Given the description of an element on the screen output the (x, y) to click on. 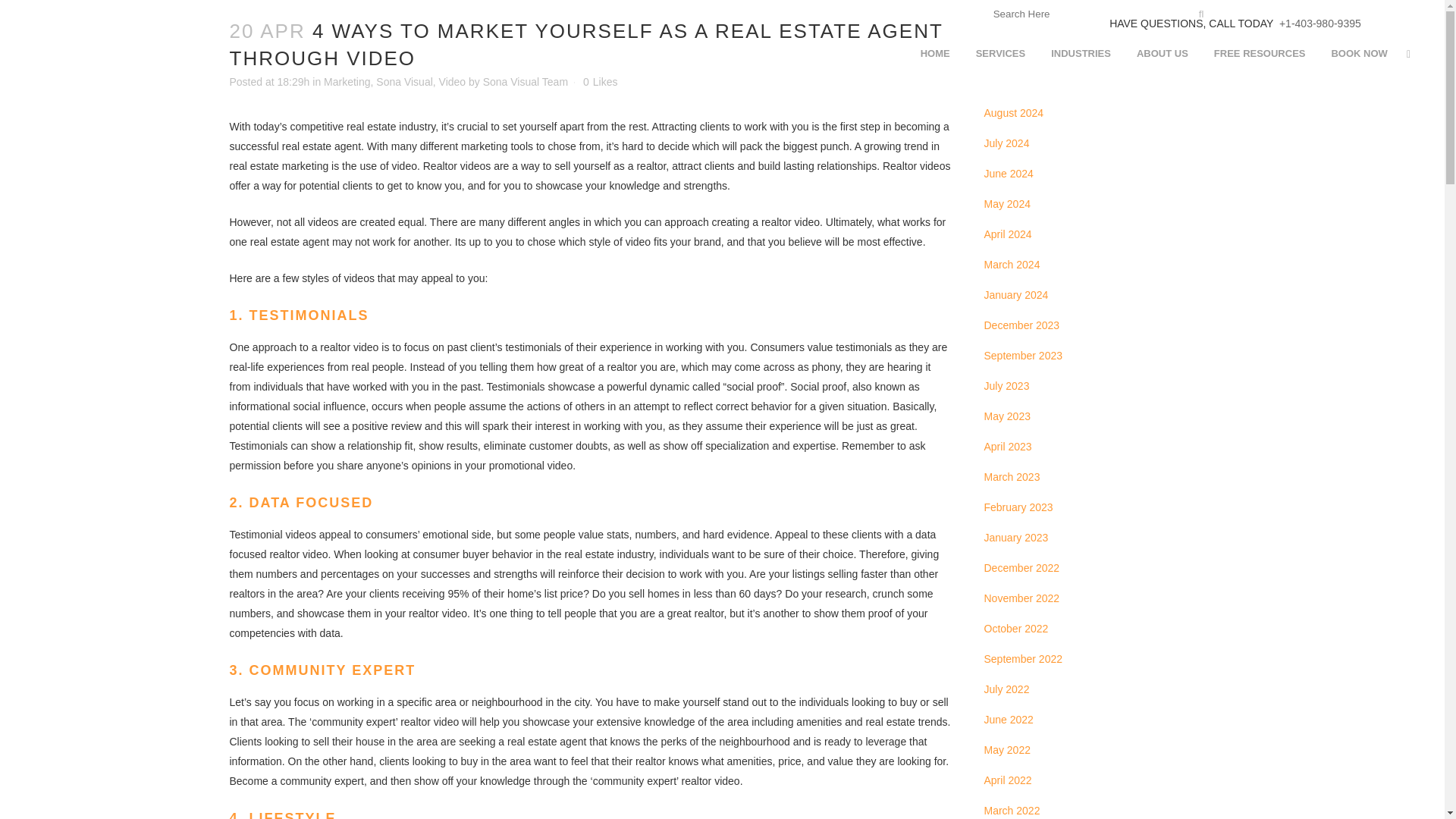
SERVICES (1000, 53)
HOME (934, 53)
Like this (600, 81)
ABOUT US (1162, 53)
BOOK NOW (1358, 53)
FREE RESOURCES (1260, 53)
INDUSTRIES (1081, 53)
